Given the description of an element on the screen output the (x, y) to click on. 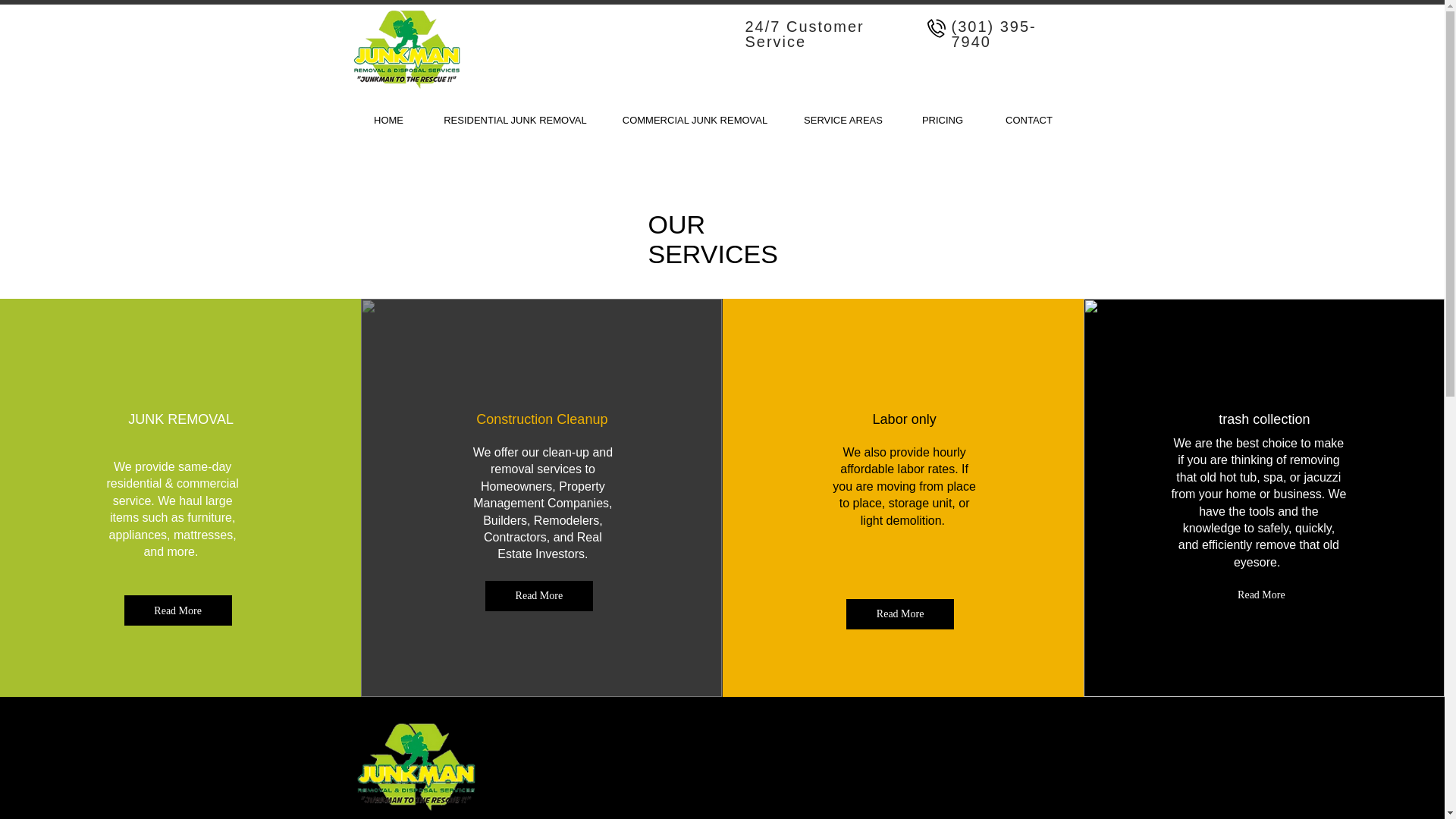
RESIDENTIAL JUNK REMOVAL (515, 113)
SERVICE AREAS (842, 113)
PRICING (943, 113)
HOME (388, 113)
COMMERCIAL JUNK REMOVAL (695, 113)
CONTACT (1028, 113)
